Given the description of an element on the screen output the (x, y) to click on. 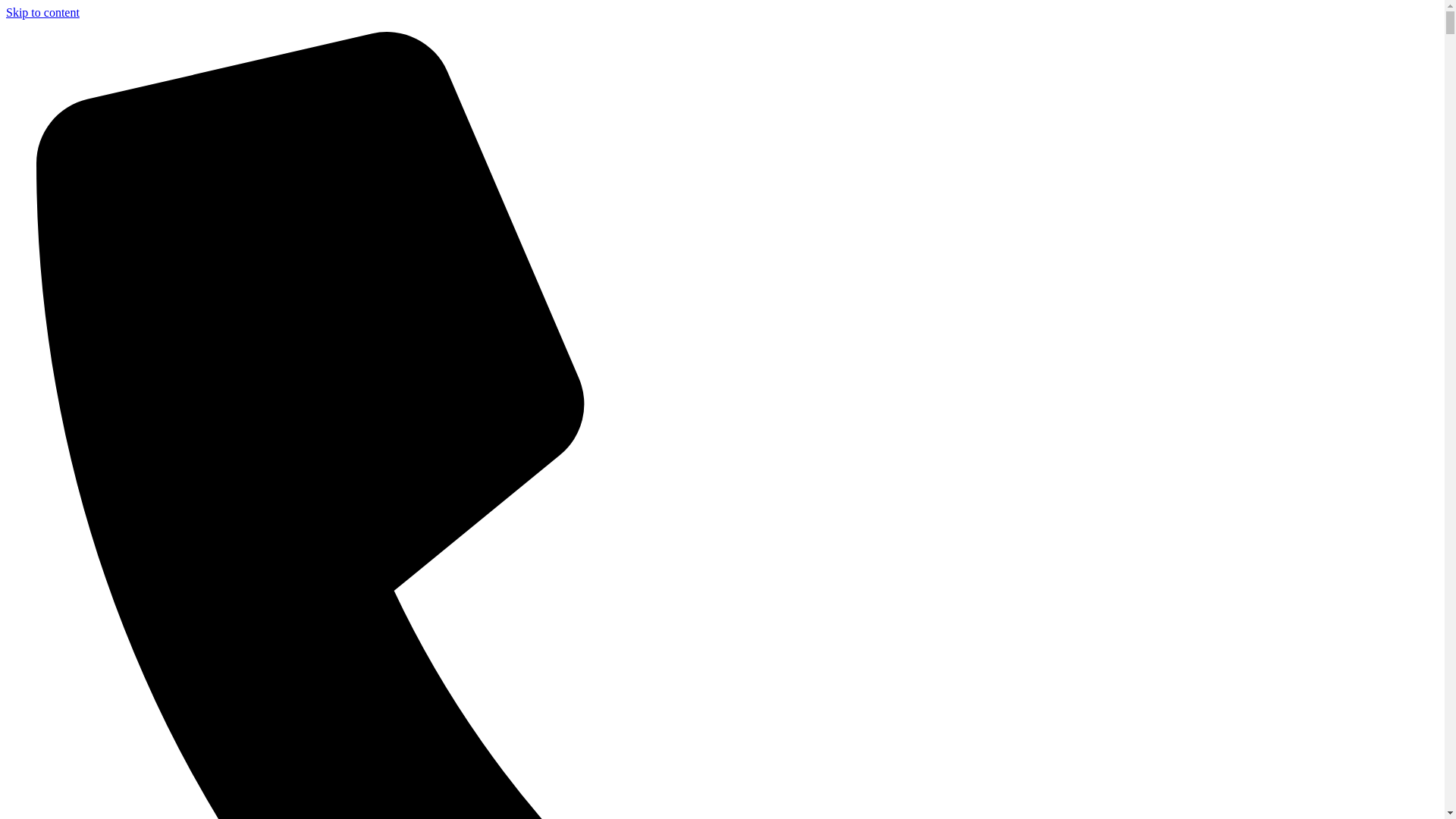
Skip to content (42, 11)
